Given the description of an element on the screen output the (x, y) to click on. 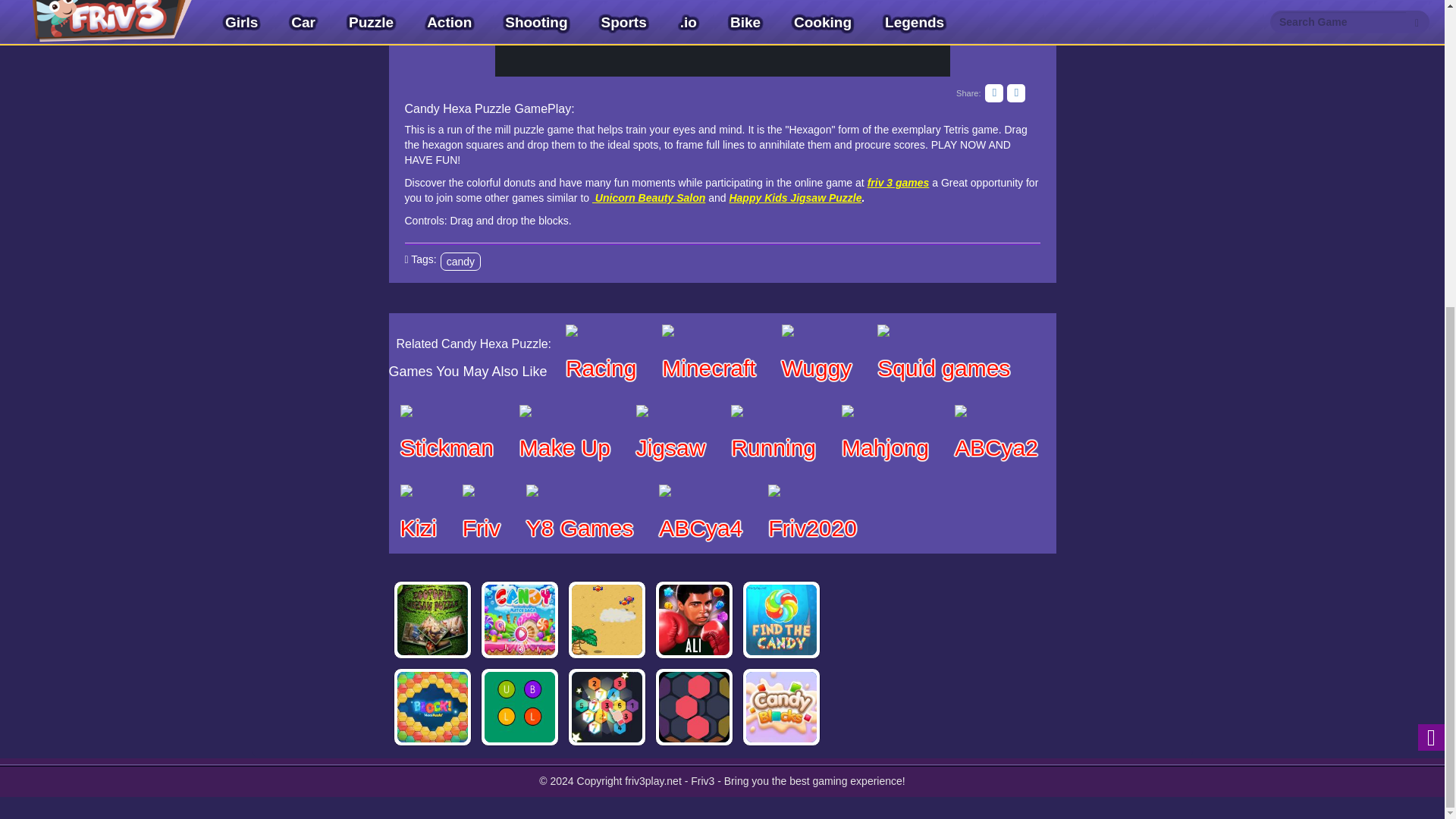
Racing (600, 352)
Racing (600, 352)
Happy Kids Jigsaw Puzzle (795, 197)
Wuggy (816, 352)
Running (773, 433)
Jigsaw (670, 433)
ABCya4 (700, 513)
Stickman (445, 433)
Minecraft (708, 352)
Minecraft (708, 352)
Wuggy (816, 352)
Unicorn Beauty Salon (648, 197)
friv 3 games (898, 182)
Running (773, 433)
ABCya2 (996, 433)
